Given the description of an element on the screen output the (x, y) to click on. 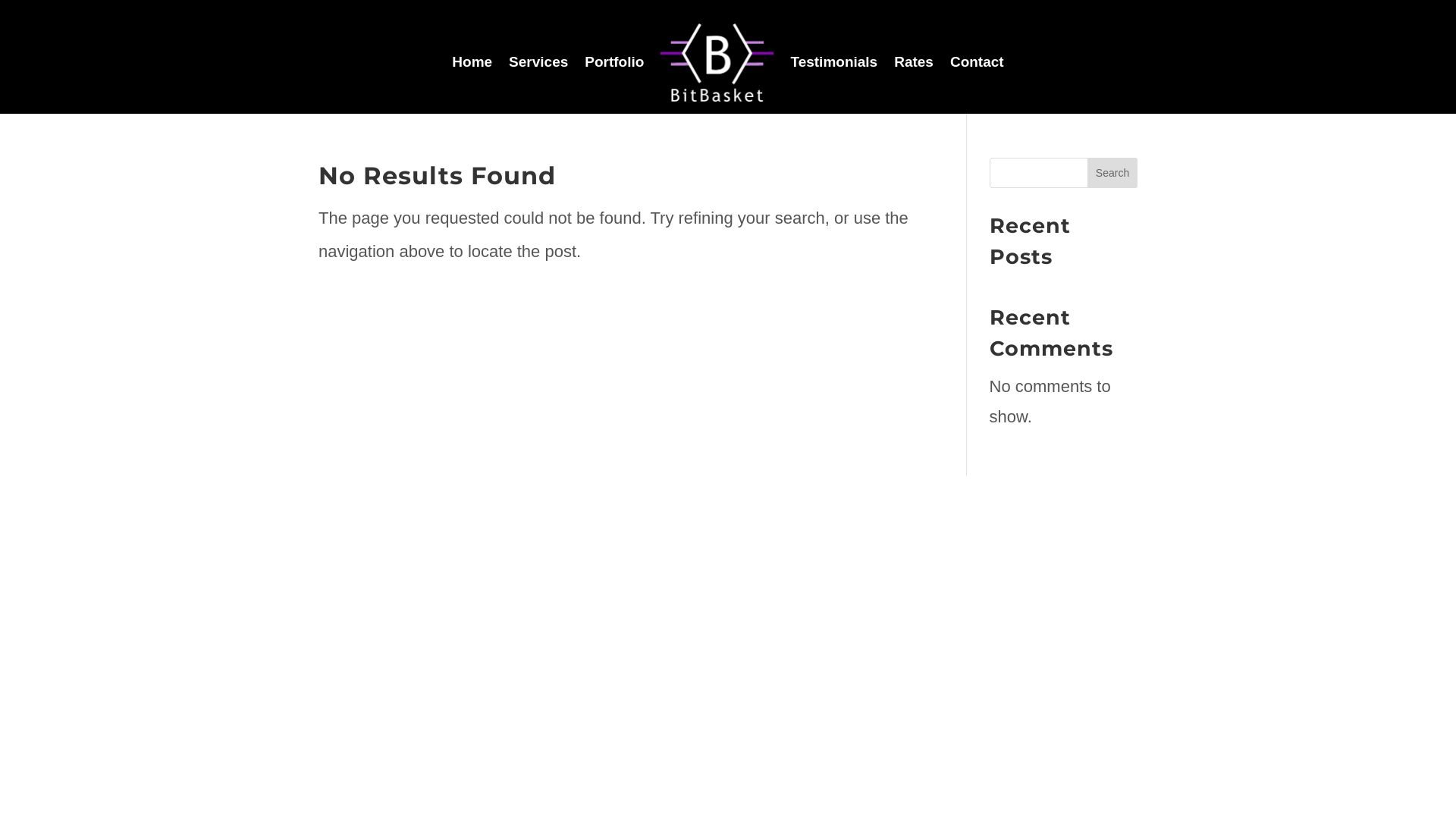
Testimonials Element type: text (833, 62)
Search Element type: text (1112, 172)
Home Element type: text (471, 62)
Rates Element type: text (913, 62)
Contact Element type: text (977, 62)
Services Element type: text (537, 62)
Portfolio Element type: text (613, 62)
